Given the description of an element on the screen output the (x, y) to click on. 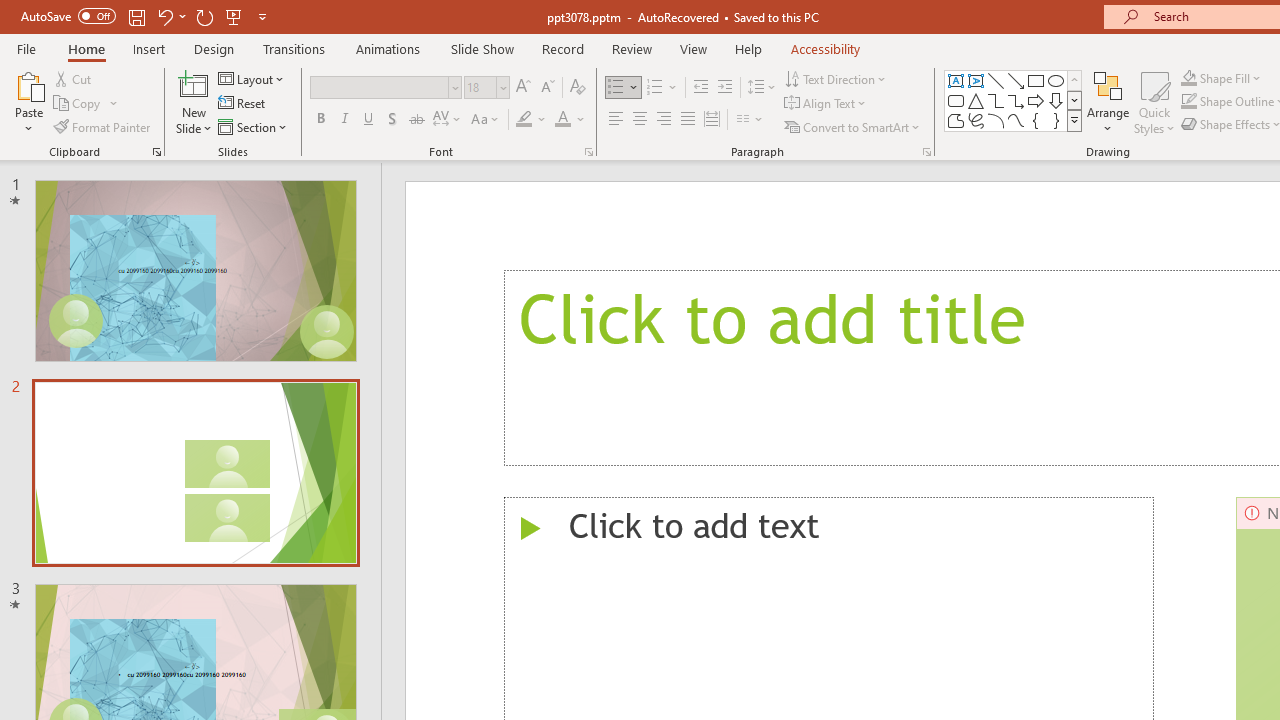
Clear Formatting (577, 87)
Freeform: Scribble (975, 120)
Quick Styles (1154, 102)
Rectangle: Rounded Corners (955, 100)
Rectangle (1035, 80)
Paragraph... (926, 151)
Freeform: Shape (955, 120)
Increase Font Size (522, 87)
Line Spacing (762, 87)
Left Brace (1035, 120)
Arc (995, 120)
